Given the description of an element on the screen output the (x, y) to click on. 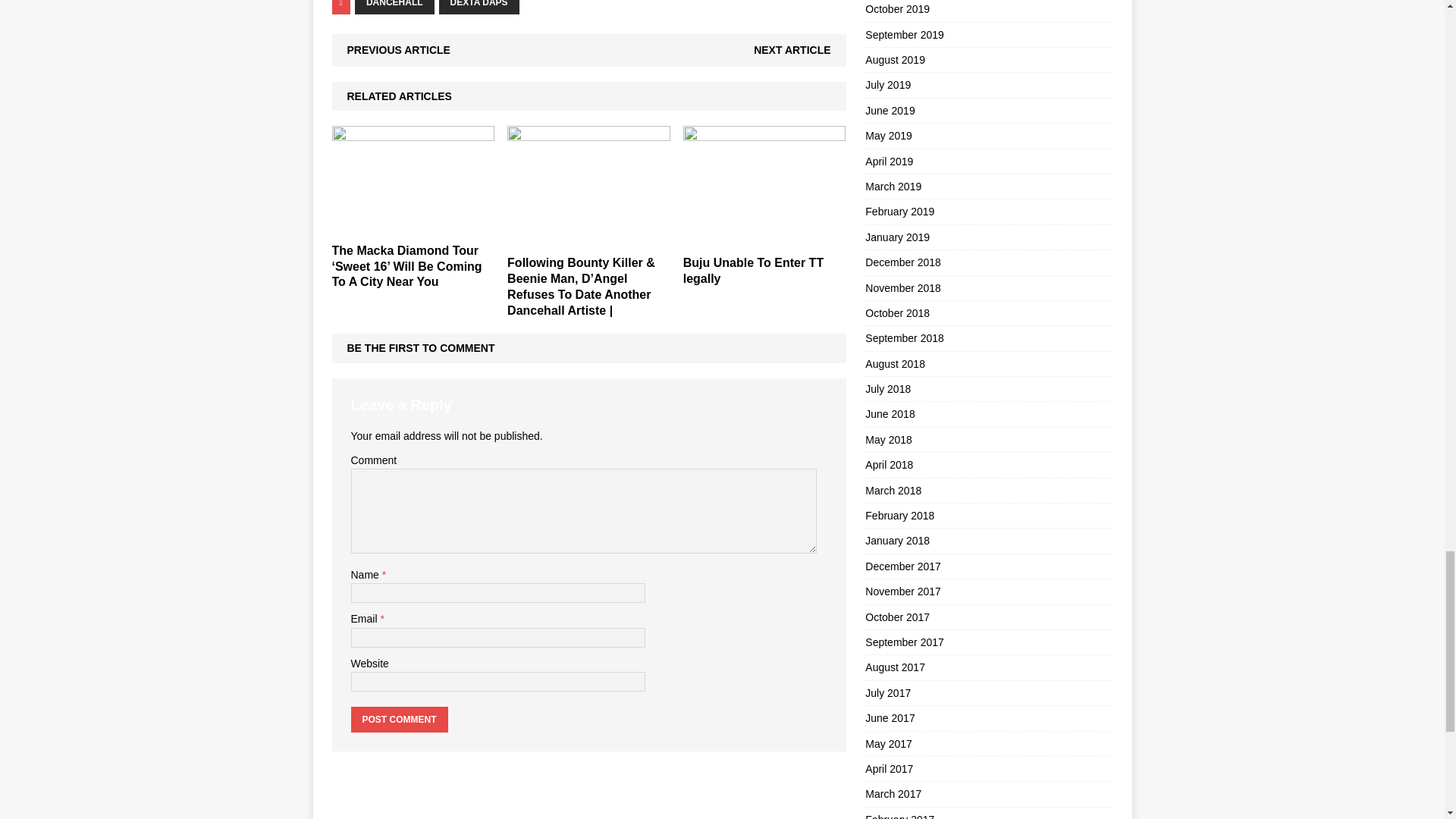
Buju Unable To Enter TT legally (763, 239)
Post Comment (398, 719)
DEXTA DAPS (479, 7)
Buju Unable To Enter TT legally (753, 270)
DANCEHALL (394, 7)
NEXT ARTICLE (791, 50)
Buju Unable To Enter TT legally (753, 270)
PREVIOUS ARTICLE (398, 50)
